Given the description of an element on the screen output the (x, y) to click on. 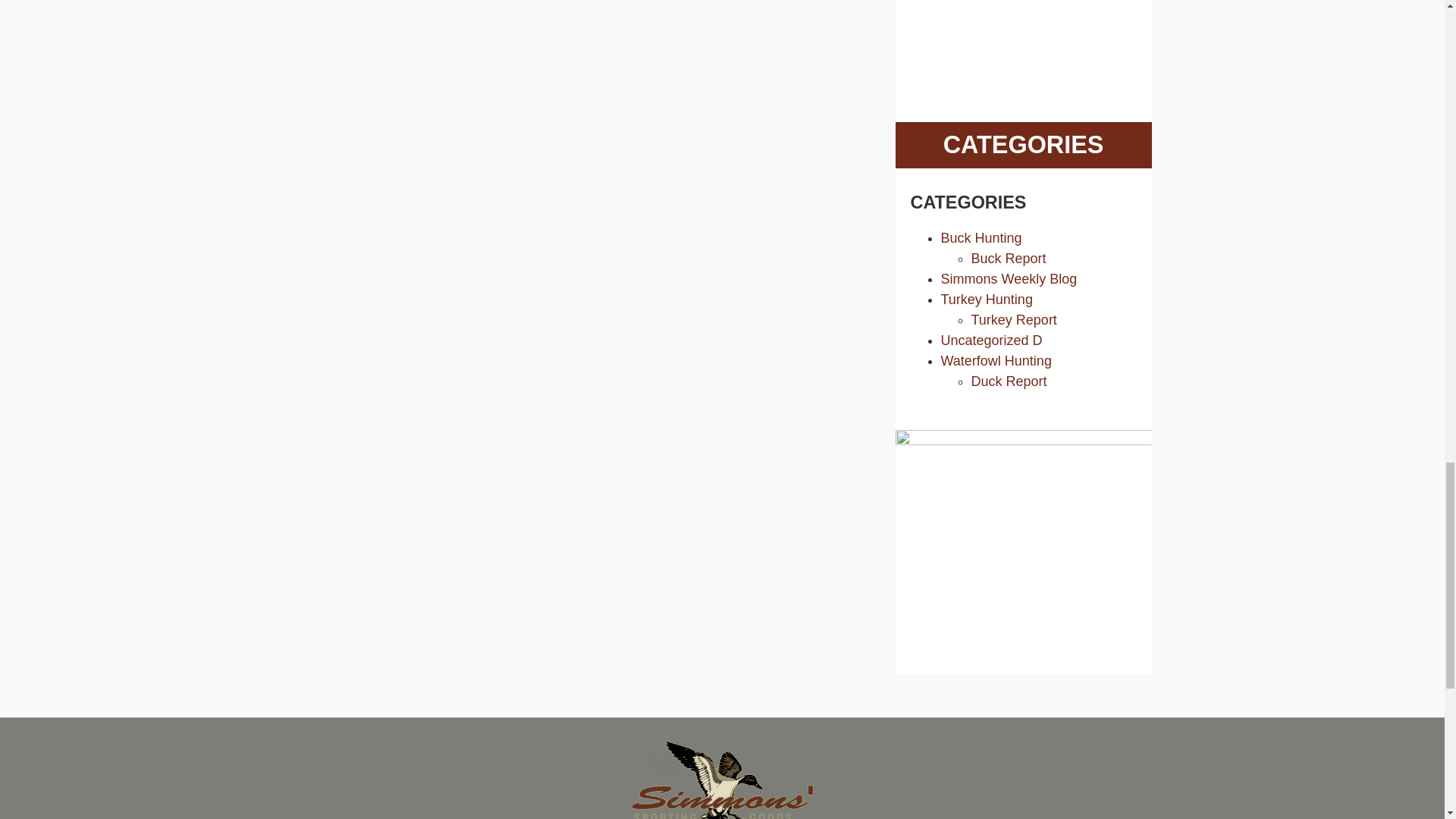
Buck Hunting (981, 237)
Waterfowl Hunting (995, 360)
Simmons Weekly Blog (1008, 278)
Turkey Report (1014, 319)
Buck Report (1008, 258)
Uncategorized D (991, 340)
Turkey Hunting (986, 299)
